Given the description of an element on the screen output the (x, y) to click on. 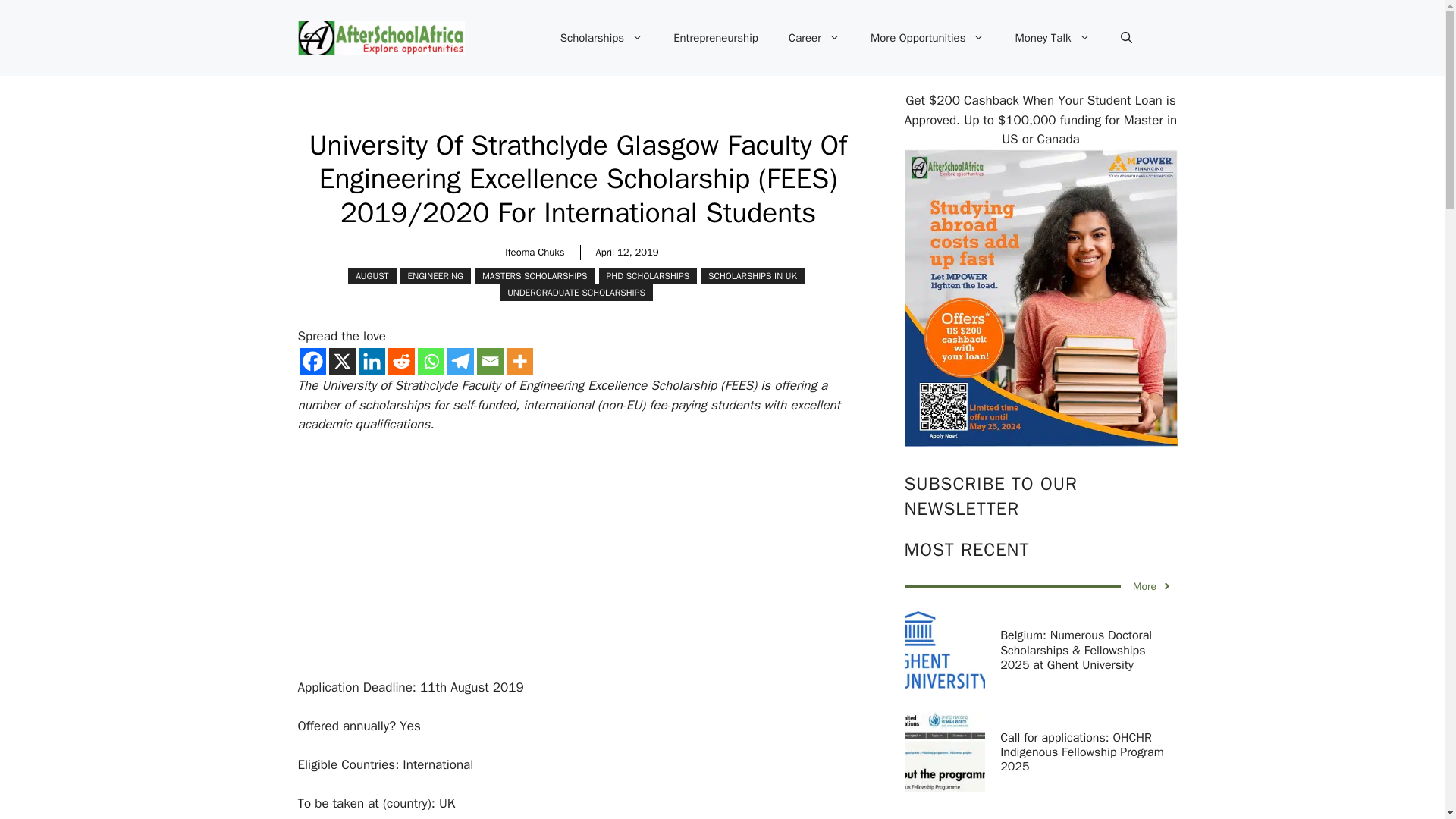
PHD SCHOLARSHIPS (647, 275)
Scholarships (601, 37)
Entrepreneurship (715, 37)
More Opportunities (928, 37)
More (519, 361)
Linkedin (371, 361)
ENGINEERING (435, 275)
UNDERGRADUATE SCHOLARSHIPS (575, 292)
Whatsapp (430, 361)
Money Talk (1051, 37)
AUGUST (371, 275)
SCHOLARSHIPS IN UK (752, 275)
Reddit (401, 361)
Facebook (311, 361)
MASTERS SCHOLARSHIPS (534, 275)
